Given the description of an element on the screen output the (x, y) to click on. 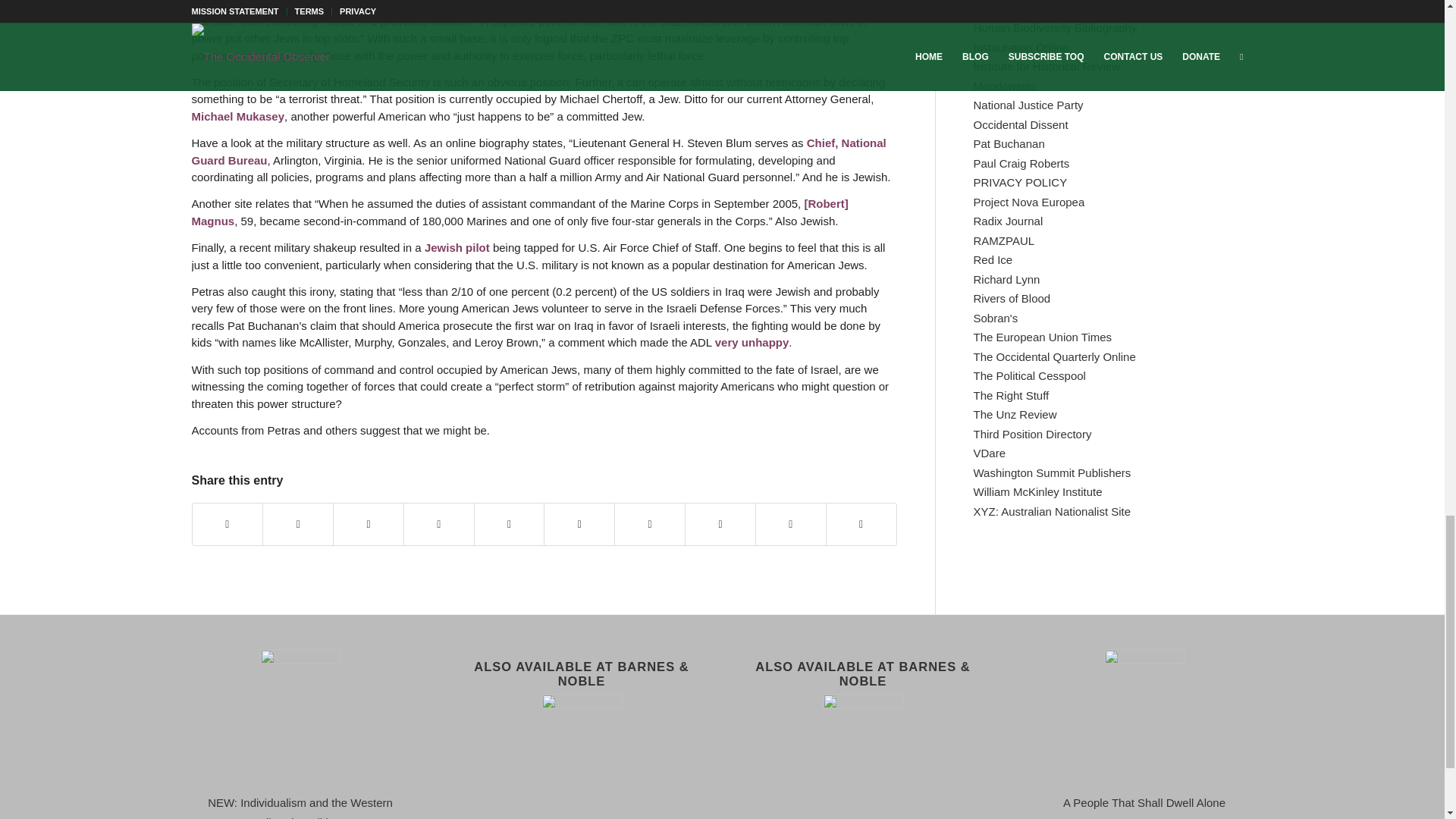
Jewish pilot (457, 246)
very unhappy (751, 341)
Michael Mukasey (236, 115)
previous column (425, 21)
Chief, National Guard Bureau (537, 151)
